Given the description of an element on the screen output the (x, y) to click on. 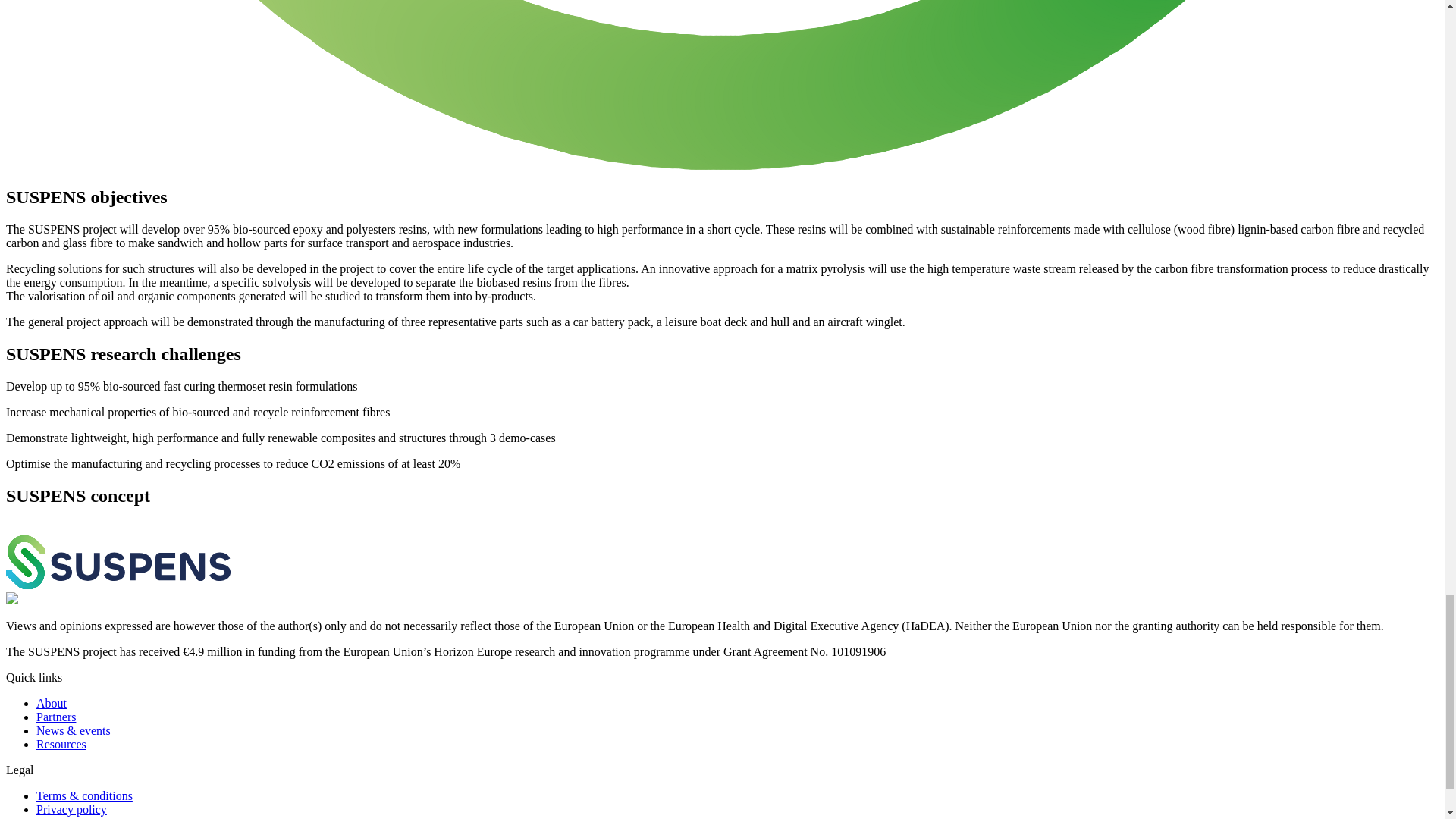
About (51, 703)
Partners (55, 716)
Privacy policy (71, 809)
Resources (60, 744)
